Given the description of an element on the screen output the (x, y) to click on. 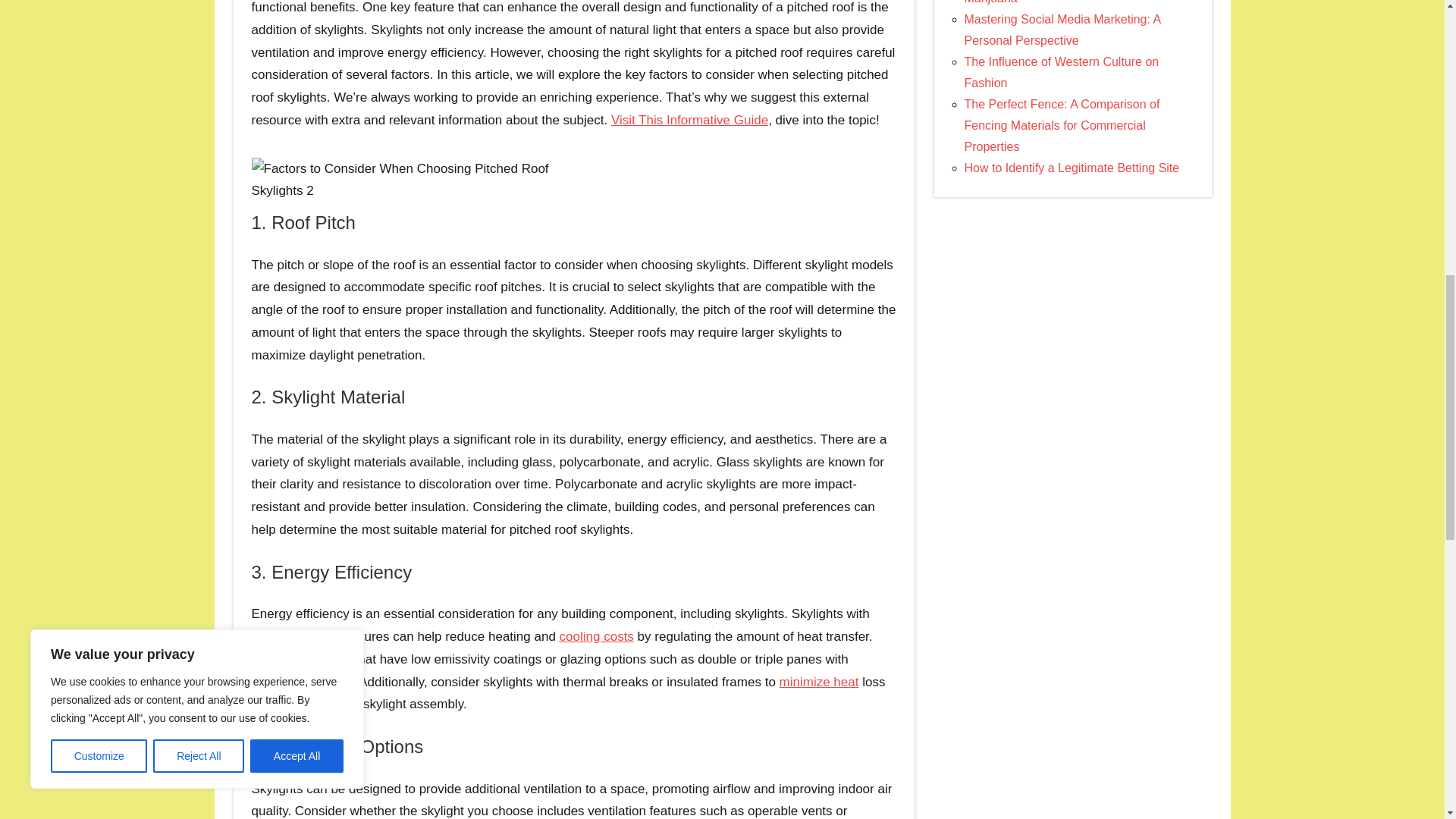
minimize heat (818, 681)
Visit This Informative Guide (689, 120)
cooling costs (596, 636)
